Given the description of an element on the screen output the (x, y) to click on. 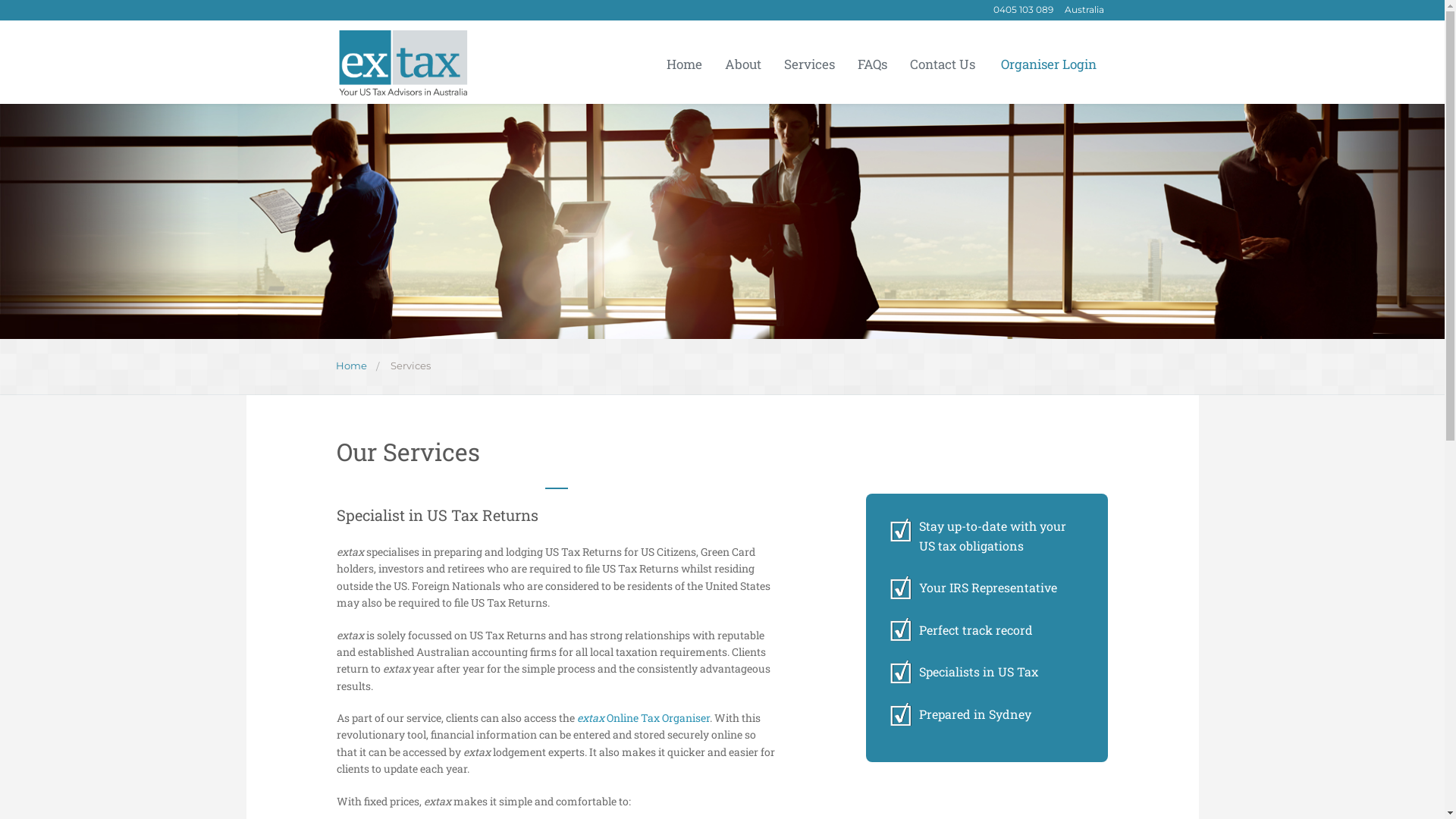
Contact Us Element type: text (942, 64)
extax Online Tax Organiser Element type: text (643, 717)
extax Element type: hover (402, 61)
Australia Element type: text (1082, 9)
FAQs Element type: text (872, 64)
Home Element type: text (684, 64)
0405 103 089 Element type: text (1021, 9)
About Element type: text (742, 64)
Services Element type: text (809, 64)
Services Element type: text (410, 365)
Home Element type: text (351, 365)
 Organiser Login Element type: text (1046, 64)
